Given the description of an element on the screen output the (x, y) to click on. 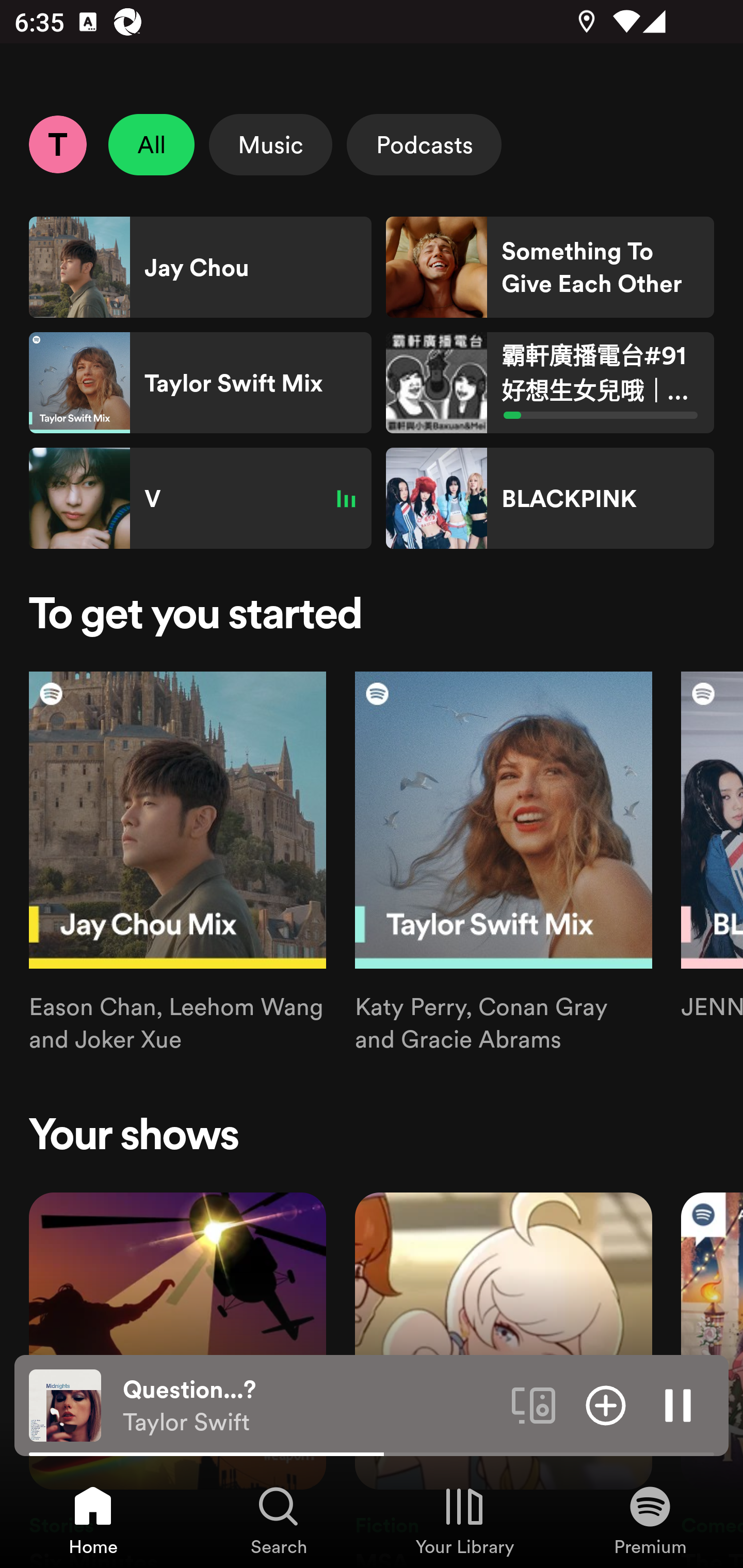
Profile (57, 144)
All Unselect All (151, 144)
Music Select Music (270, 144)
Podcasts Select Podcasts (423, 144)
Jay Chou Shortcut Jay Chou (199, 267)
Taylor Swift Mix Shortcut Taylor Swift Mix (199, 382)
V Shortcut V Playing (199, 498)
BLACKPINK Shortcut BLACKPINK (549, 498)
Question...? Taylor Swift (309, 1405)
The cover art of the currently playing track (64, 1404)
Connect to a device. Opens the devices menu (533, 1404)
Add item (605, 1404)
Pause (677, 1404)
Home, Tab 1 of 4 Home Home (92, 1519)
Search, Tab 2 of 4 Search Search (278, 1519)
Your Library, Tab 3 of 4 Your Library Your Library (464, 1519)
Premium, Tab 4 of 4 Premium Premium (650, 1519)
